Given the description of an element on the screen output the (x, y) to click on. 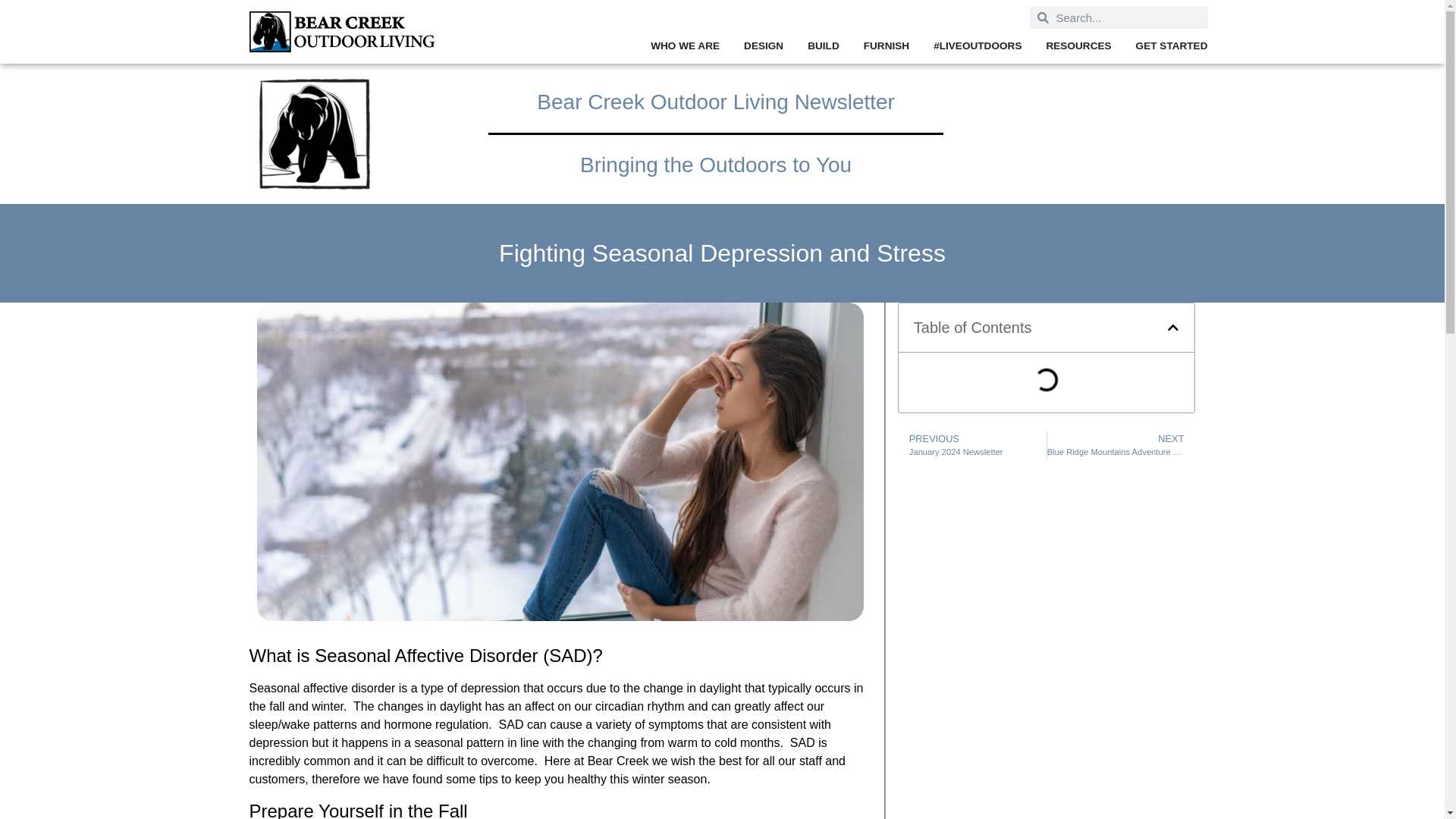
DESIGN (763, 45)
BUILD (824, 45)
WHO WE ARE (684, 45)
RESOURCES (1077, 45)
FURNISH (885, 45)
GET STARTED (1171, 45)
